Given the description of an element on the screen output the (x, y) to click on. 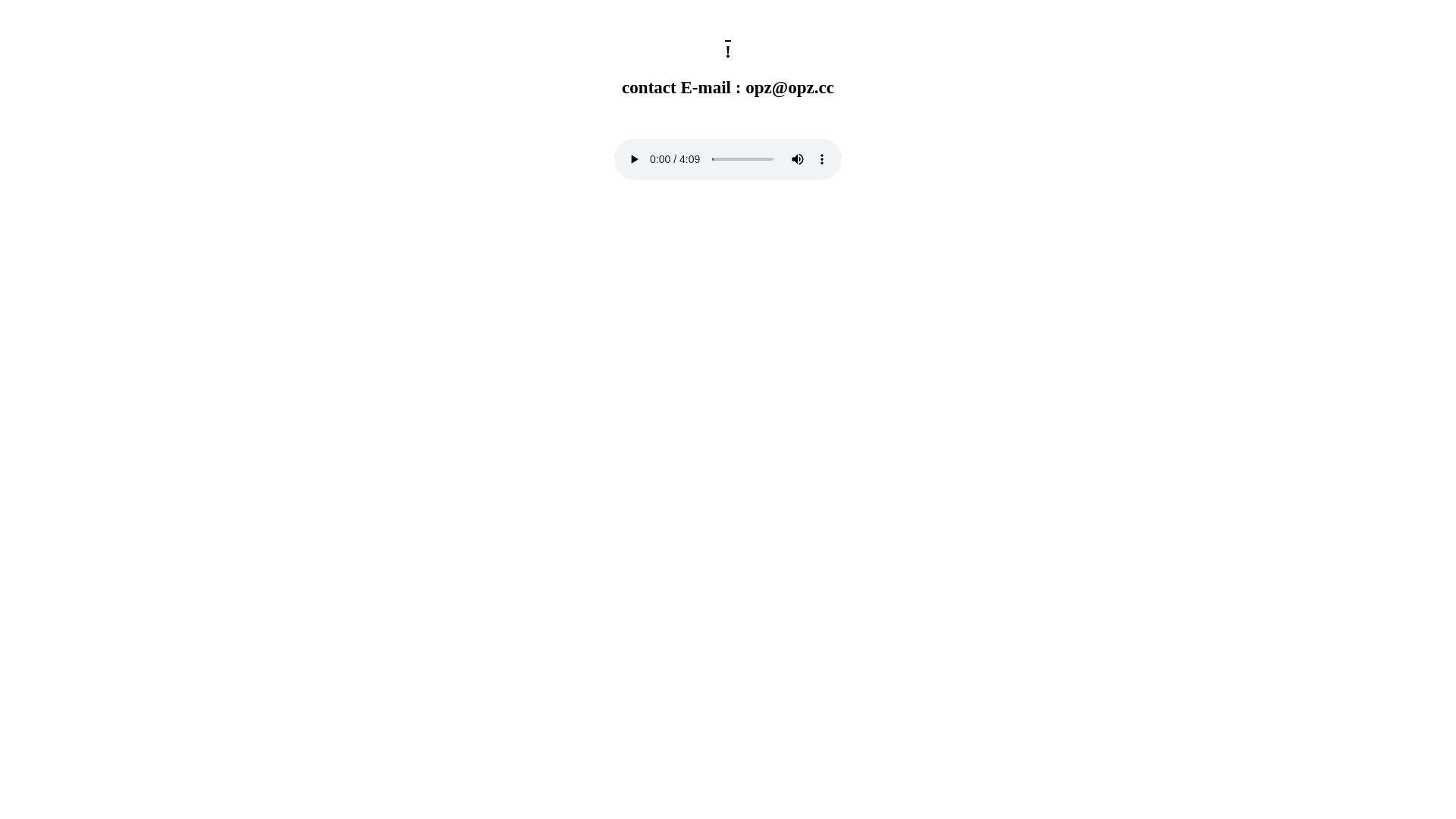
shopify trafficstats Element type: hover (6, 227)
